Given the description of an element on the screen output the (x, y) to click on. 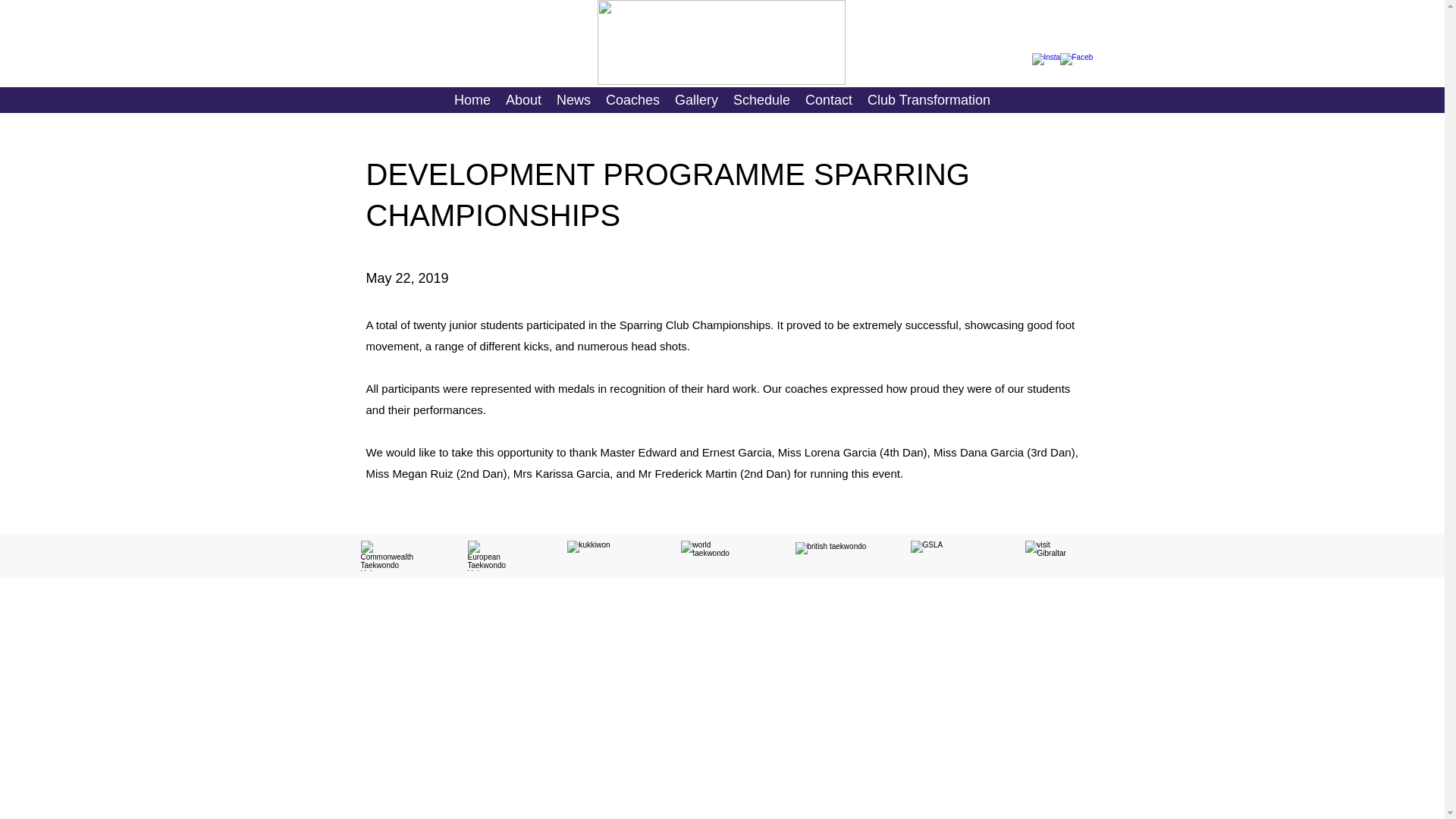
About (522, 99)
Home (471, 99)
News (573, 99)
Contact (828, 99)
Coaches (632, 99)
Club Transformation (928, 99)
Gallery (695, 99)
Schedule (761, 99)
